Given the description of an element on the screen output the (x, y) to click on. 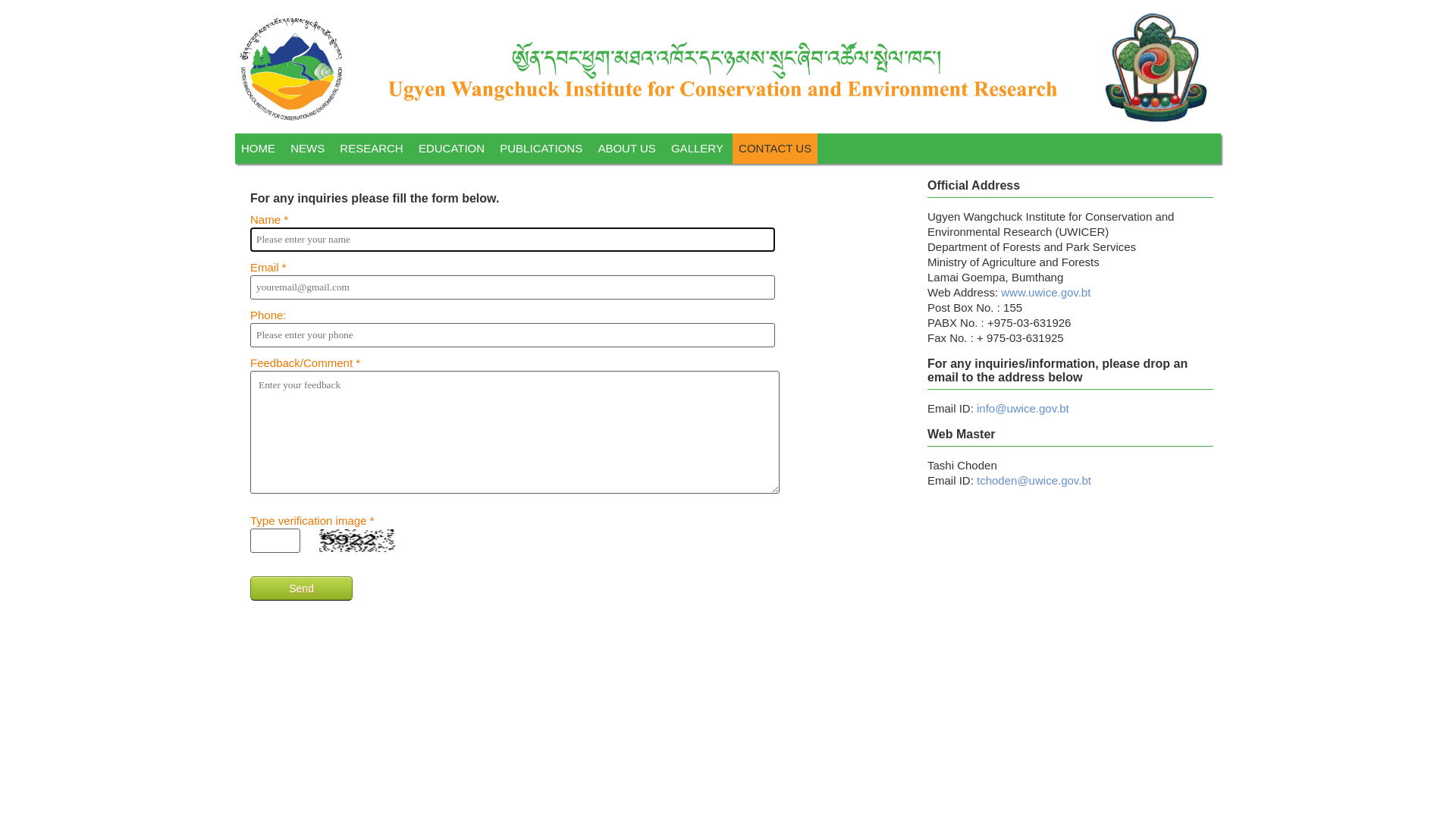
ABOUT US Element type: text (626, 148)
EDUCATION Element type: text (451, 148)
HOME Element type: text (258, 148)
info@uwice.gov.bt Element type: text (1022, 407)
GALLERY Element type: text (697, 148)
tchoden@uwice.gov.bt Element type: text (1033, 479)
Send Element type: text (301, 588)
RESEARCH Element type: text (370, 148)
PUBLICATIONS Element type: text (540, 148)
CONTACT US Element type: text (774, 148)
www.uwice.gov.bt Element type: text (1045, 291)
NEWS Element type: text (307, 148)
